Given the description of an element on the screen output the (x, y) to click on. 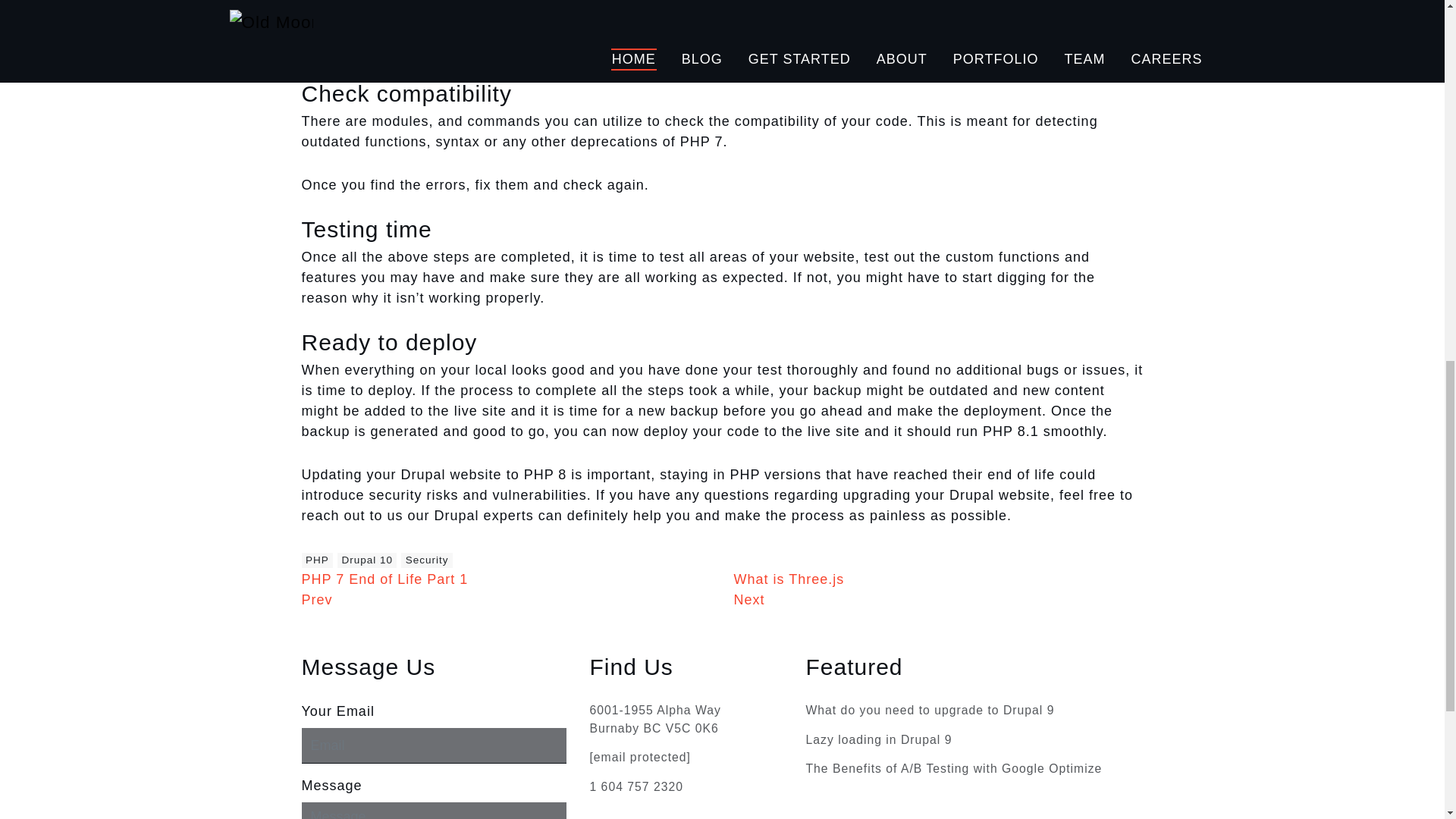
What is Three.js (788, 579)
Lazy loading in Drupal 9 (878, 740)
What do you need to upgrade to Drupal 9 (929, 710)
1 604 757 2320 (635, 787)
Prev (317, 600)
Next (749, 600)
PHP 7 End of Life Part 1 (384, 579)
